Given the description of an element on the screen output the (x, y) to click on. 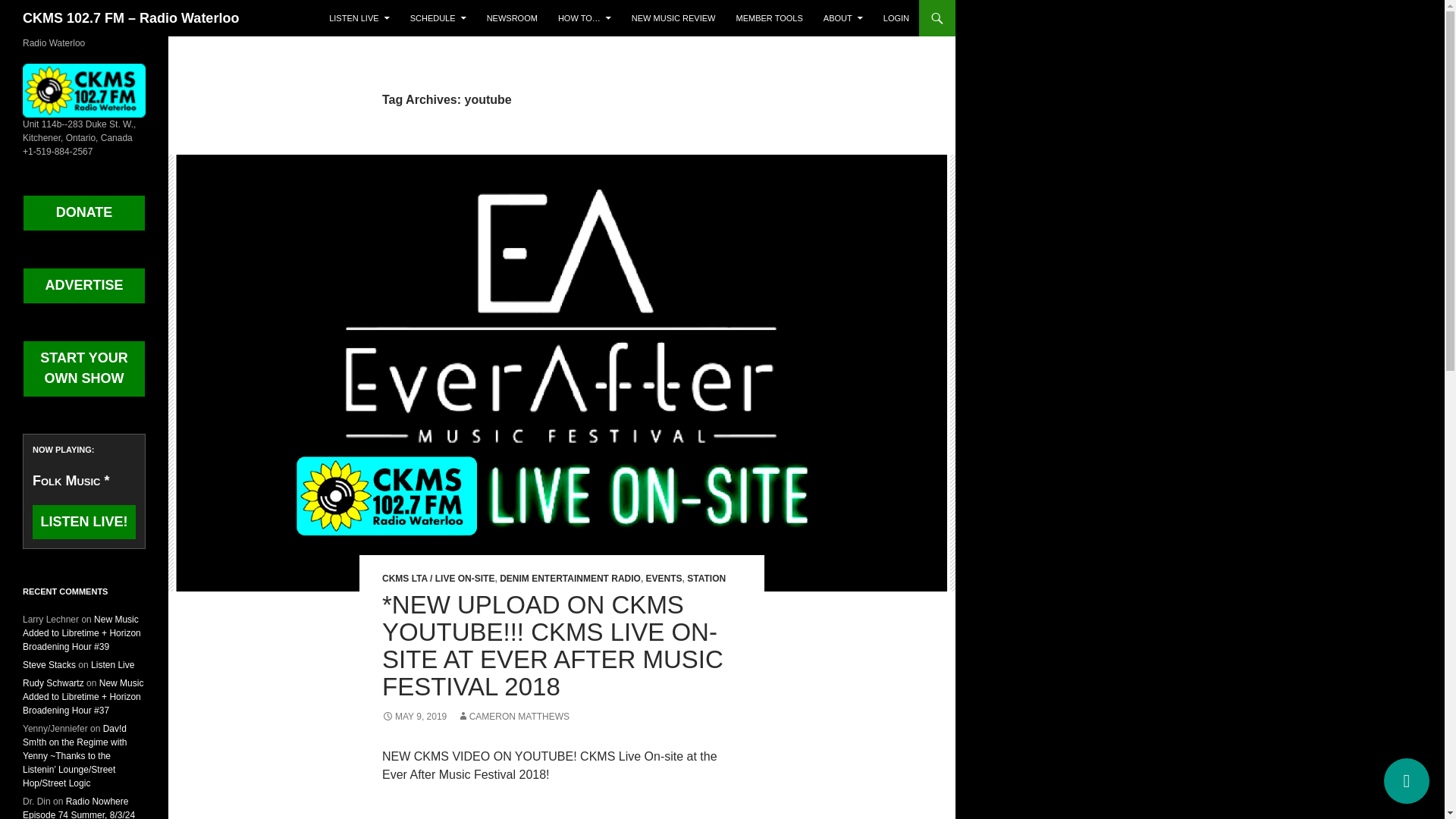
MAY 9, 2019 (413, 716)
DENIM ENTERTAINMENT RADIO (569, 578)
LISTEN LIVE (358, 18)
STATION (706, 578)
LOGIN (896, 18)
SCHEDULE (438, 18)
NEW MUSIC REVIEW (674, 18)
ABOUT (842, 18)
CAMERON MATTHEWS (513, 716)
MEMBER TOOLS (768, 18)
